Given the description of an element on the screen output the (x, y) to click on. 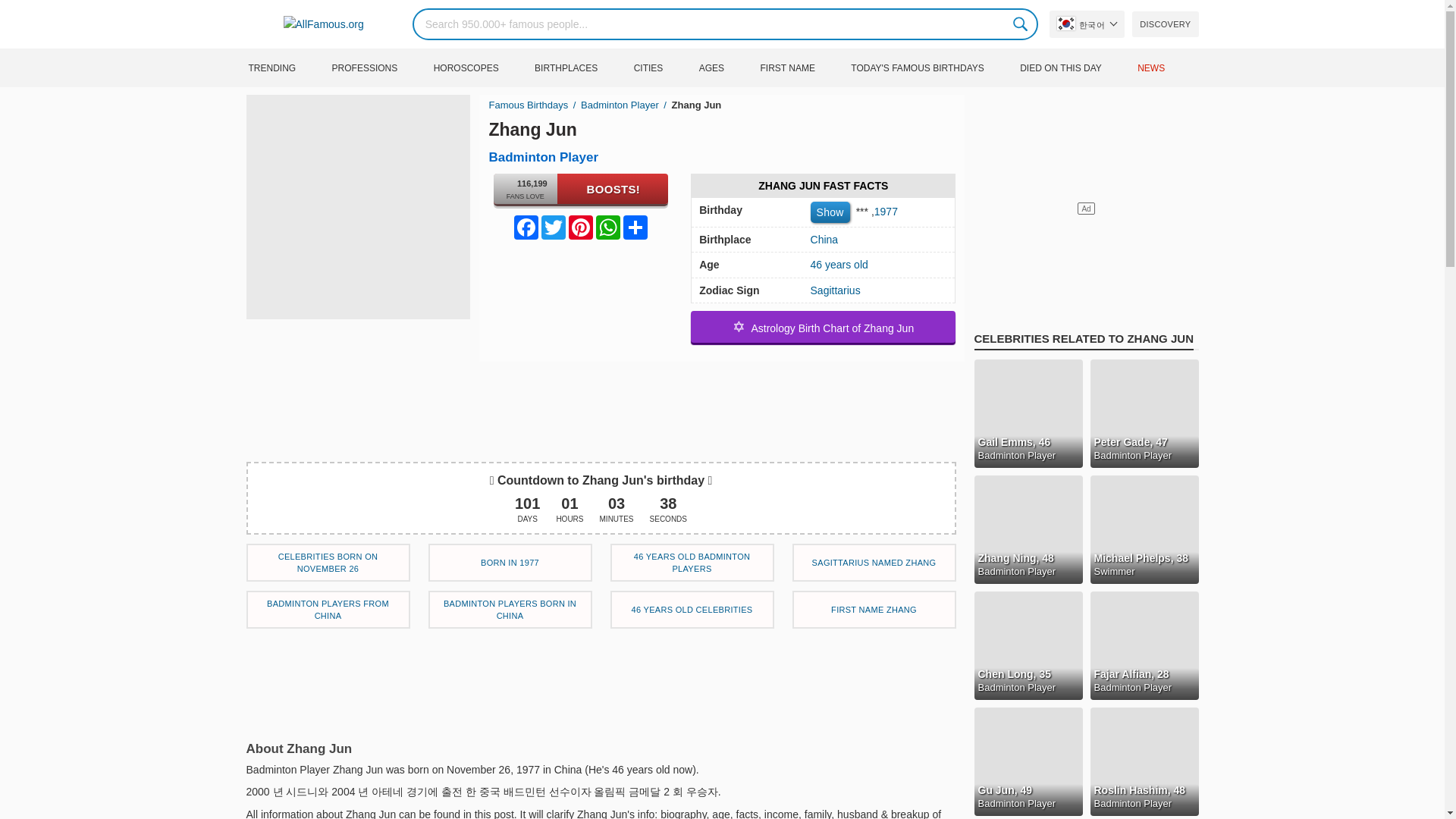
AllFamous.org (325, 24)
HOROSCOPES (481, 67)
SEARCH (1022, 24)
Top 200 Badminton Players born in China (509, 609)
CITIES (664, 67)
Top 200 Famous people turn 46 (691, 609)
Top 200 Famous Badminton Players 46 years old (691, 562)
Top 200 Badminton Players from China (327, 609)
TODAY'S FAMOUS BIRTHDAYS (932, 67)
FIRST NAME (802, 67)
